Given the description of an element on the screen output the (x, y) to click on. 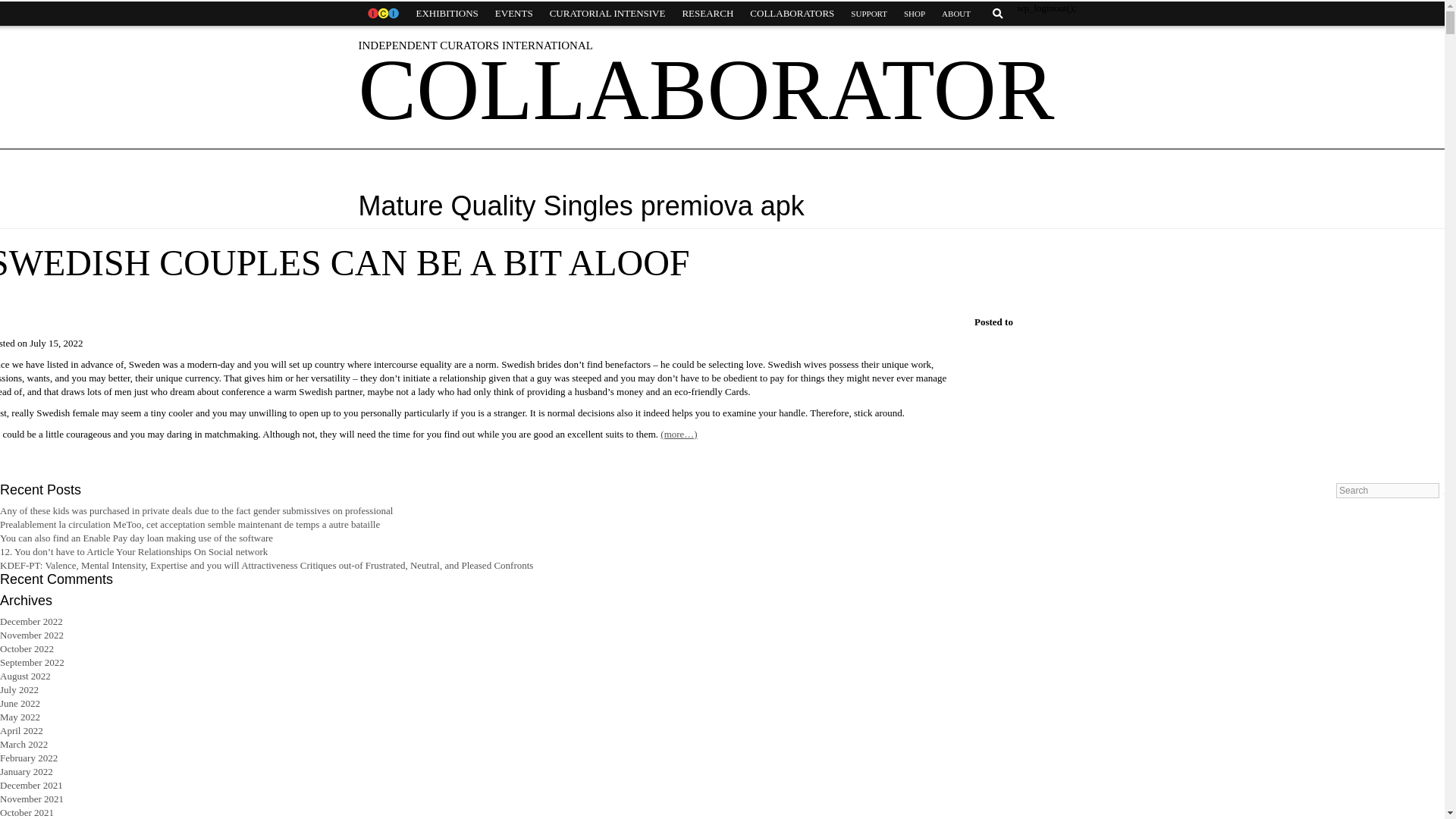
EXHIBITIONS (446, 13)
COLLABORATORS (792, 13)
RESEARCH (706, 13)
HOME (382, 13)
EVENTS (513, 13)
CURATORIAL INTENSIVE (607, 13)
